Given the description of an element on the screen output the (x, y) to click on. 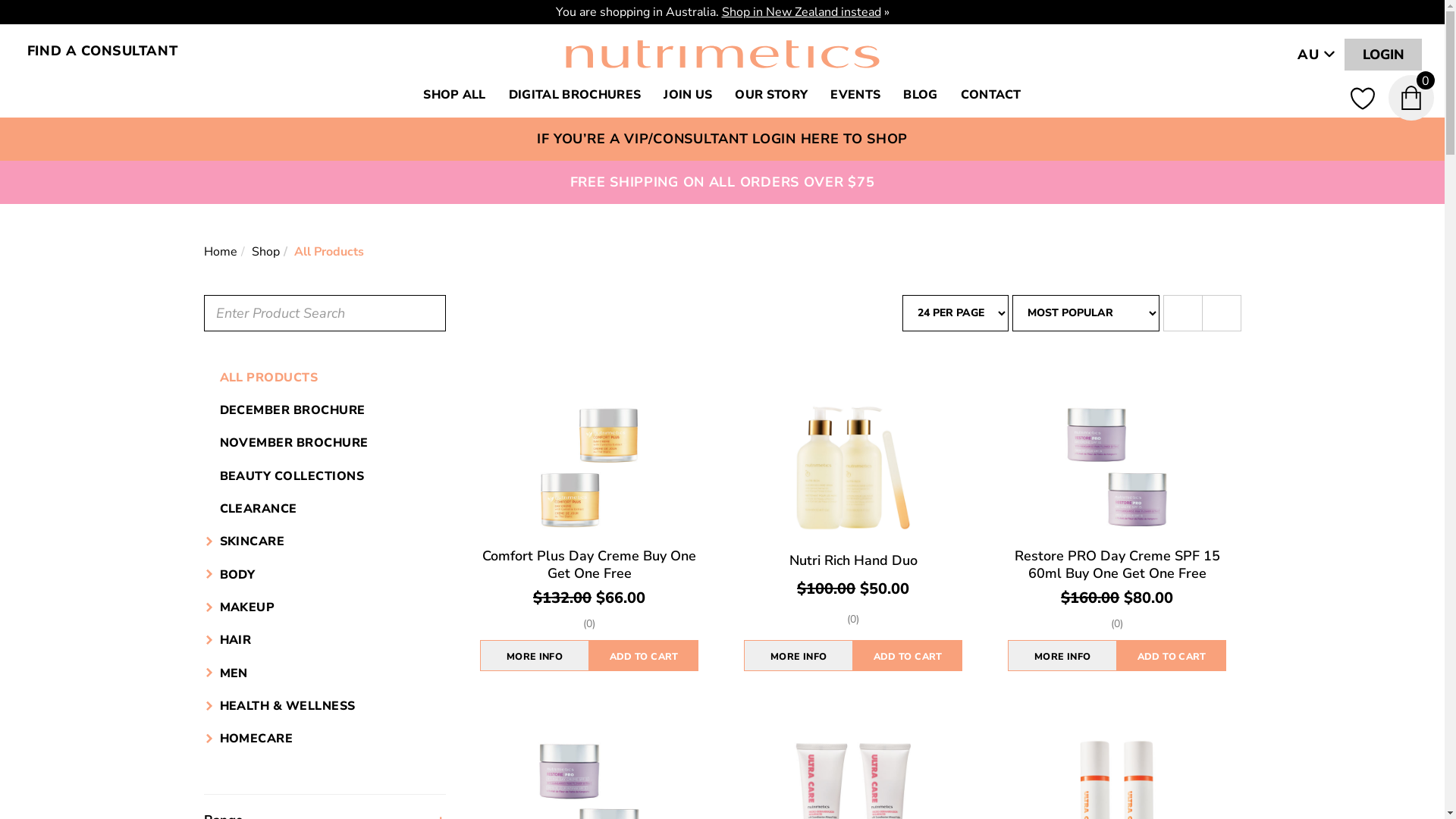
FREE SHIPPING ON ALL ORDERS OVER $75 Element type: text (722, 181)
SHOP ALL Element type: text (454, 94)
EVENTS Element type: text (855, 94)
MORE INFO Element type: text (534, 655)
JOIN US Element type: text (687, 94)
OUR STORY Element type: text (771, 94)
DIGITAL BROCHURES Element type: text (574, 94)
Restore PRO Day Creme SPF 15 60ml Buy One Get One Free Element type: text (1117, 564)
0 Element type: text (1416, 97)
BLOG Element type: text (919, 94)
AU Element type: text (1316, 54)
Nutri Rich Hand Duo Element type: text (853, 560)
Shop Element type: text (265, 251)
CONTACT Element type: text (990, 94)
MORE INFO Element type: text (1062, 655)
ADD TO CART Element type: text (907, 655)
(0) Element type: text (589, 624)
ADD TO CART Element type: text (1171, 655)
Comfort Plus Day Creme Buy One Get One Free Element type: text (589, 564)
LOGIN Element type: text (1382, 54)
ADD TO CART Element type: text (643, 655)
FIND A CONSULTANT Element type: text (102, 50)
Home Element type: text (219, 251)
Shop in New Zealand instead Element type: text (801, 11)
(0) Element type: text (852, 620)
(0) Element type: text (1116, 624)
All Products Element type: text (329, 251)
MORE INFO Element type: text (798, 655)
